Given the description of an element on the screen output the (x, y) to click on. 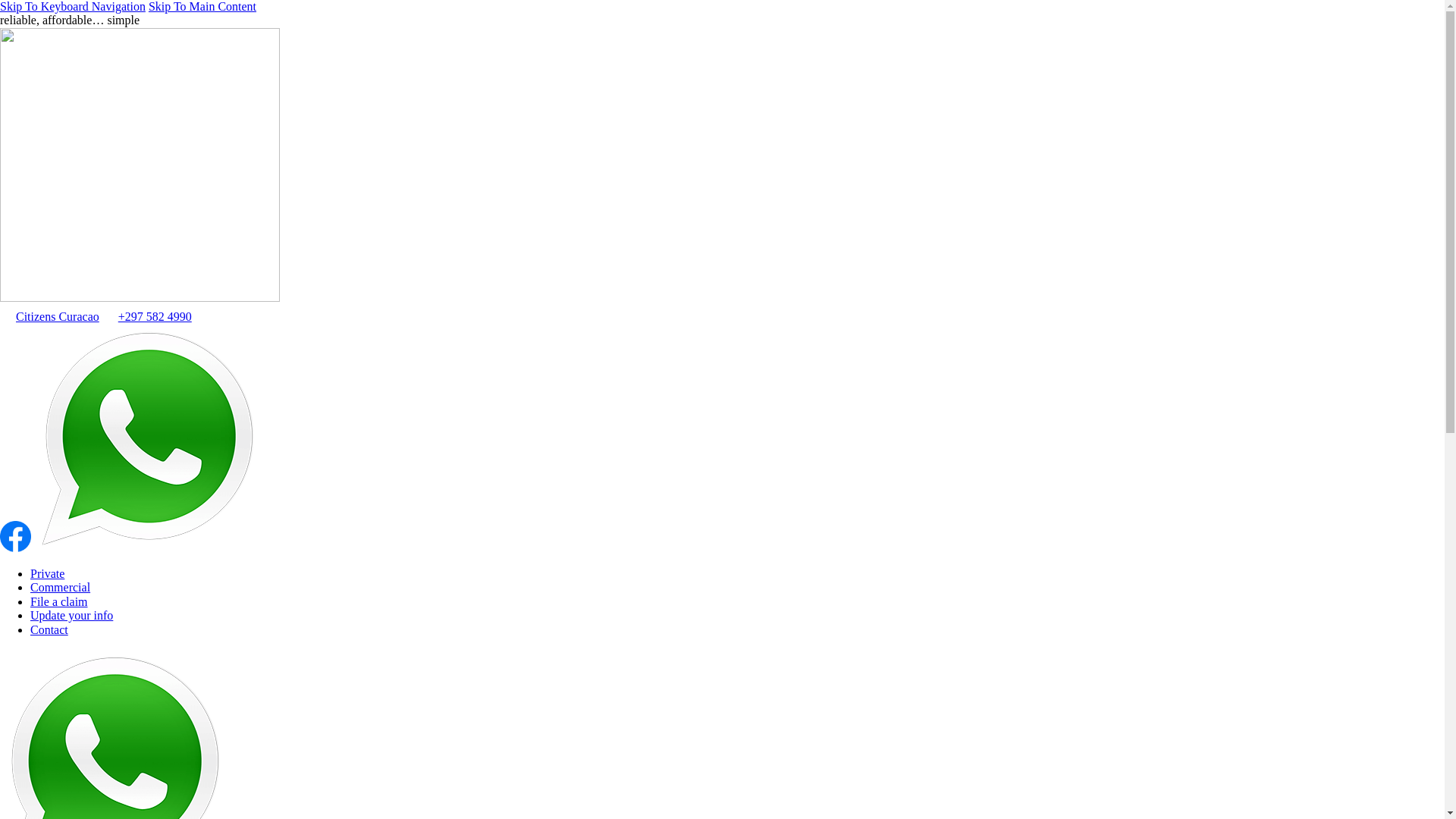
File a claim Element type: text (58, 601)
Update your info Element type: text (71, 614)
Contact Element type: text (49, 629)
Skip To Keyboard Navigation Element type: text (72, 6)
Citizens Curacao Element type: text (49, 316)
Private Element type: text (47, 573)
Commercial Element type: text (60, 586)
+297 582 4990 Element type: text (146, 316)
Skip To Main Content Element type: text (202, 6)
